Given the description of an element on the screen output the (x, y) to click on. 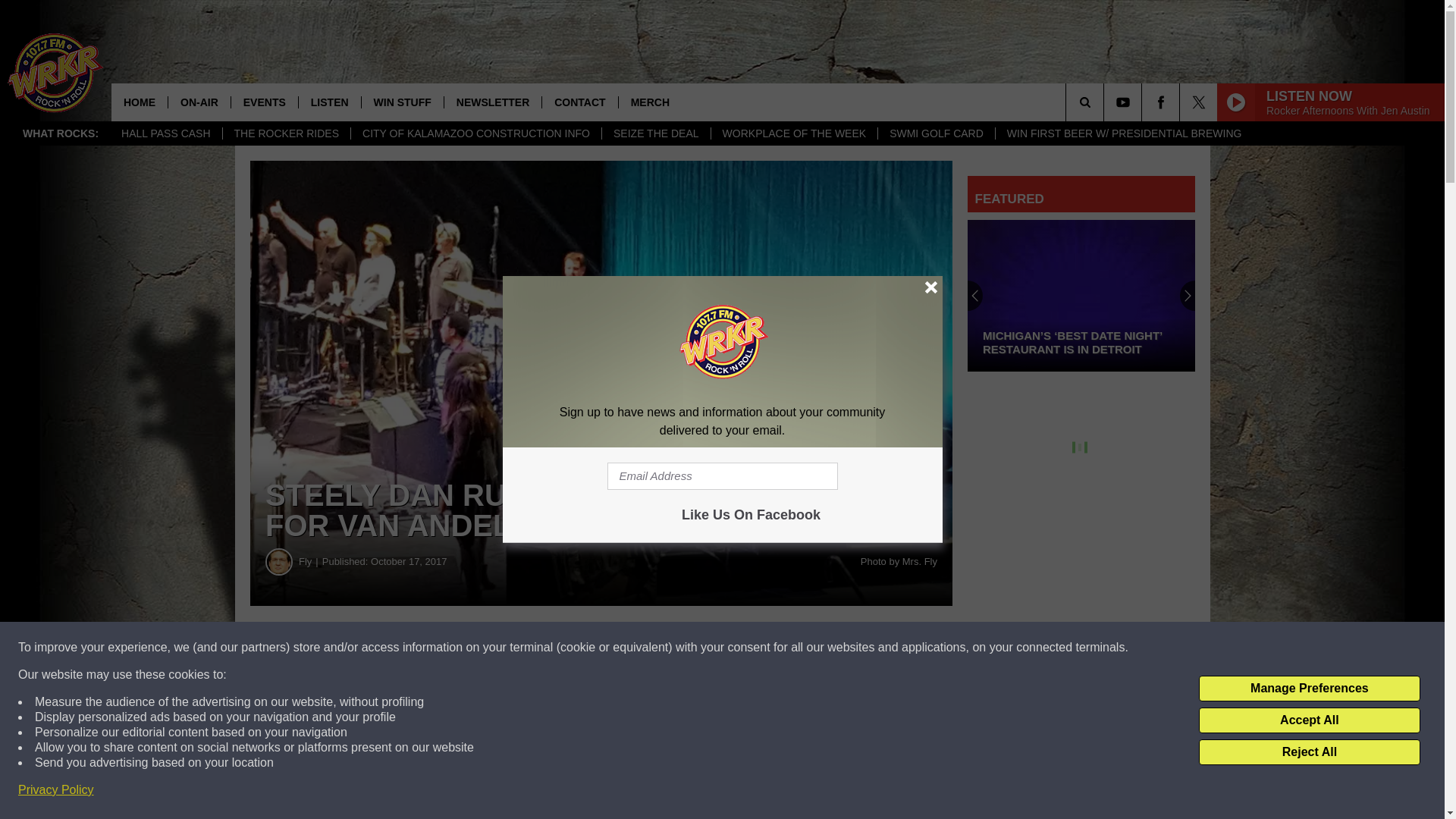
Accept All (1309, 720)
Email Address (722, 475)
NEWSLETTER (492, 102)
THE ROCKER RIDES (286, 133)
ON-AIR (198, 102)
Privacy Policy (55, 789)
EVENTS (264, 102)
SEARCH (1106, 102)
WORKPLACE OF THE WEEK (793, 133)
SEARCH (1106, 102)
WHAT ROCKS: (60, 133)
Manage Preferences (1309, 688)
SWMI GOLF CARD (935, 133)
Reject All (1309, 751)
Share on Facebook (460, 647)
